Given the description of an element on the screen output the (x, y) to click on. 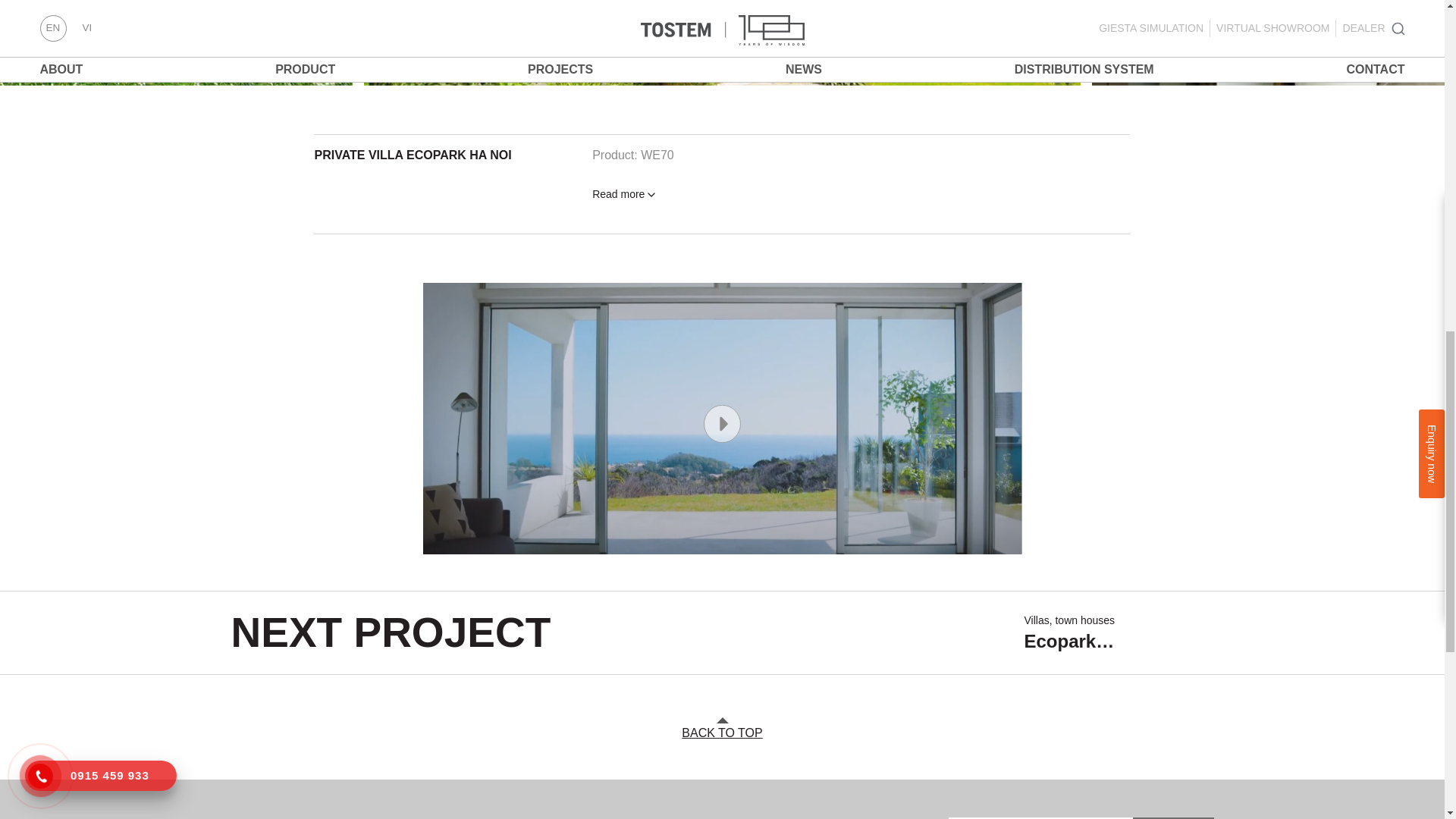
Subcribe (1172, 818)
